Given the description of an element on the screen output the (x, y) to click on. 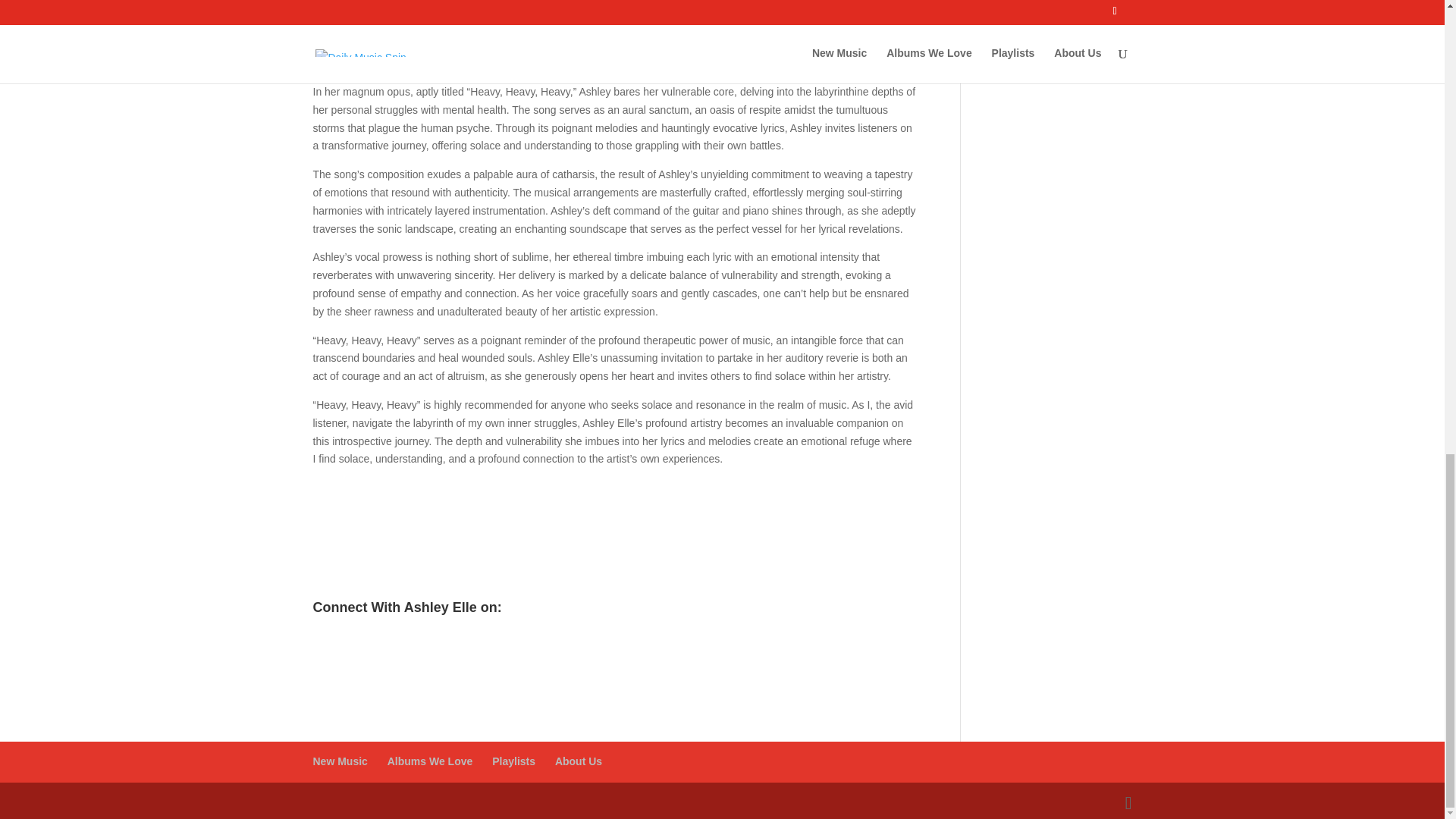
About Us (578, 761)
Playlists (513, 761)
New Music (339, 761)
Spotify Embed: Heavy, Heavy, Heavy (614, 536)
Albums We Love (430, 761)
